Given the description of an element on the screen output the (x, y) to click on. 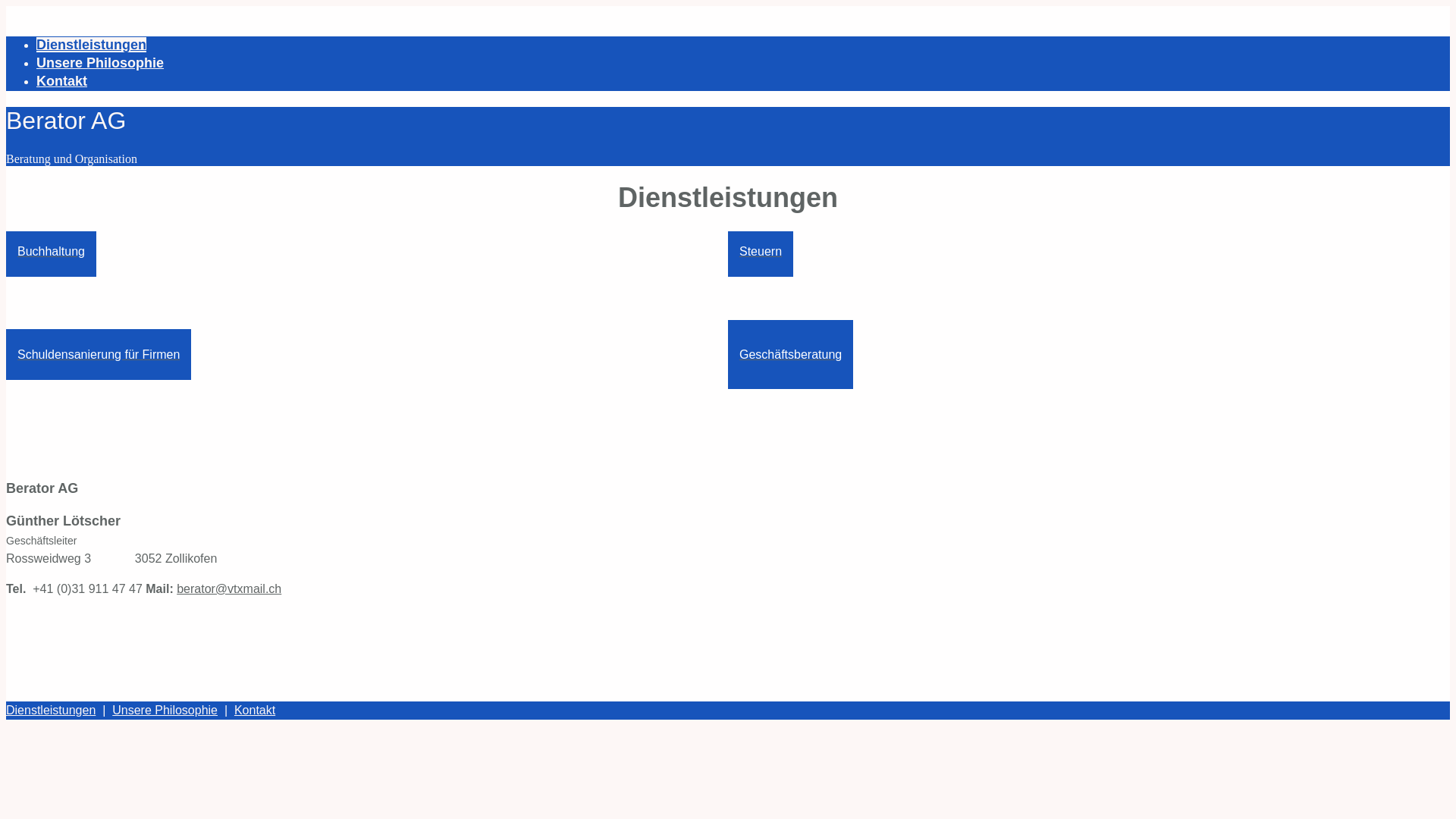
Unsere Philosophie Element type: text (164, 709)
Kontakt Element type: text (254, 709)
Kontakt Element type: text (61, 80)
berator@vtxmail.ch Element type: text (228, 588)
Buchhaltung Element type: text (51, 250)
Dienstleistungen Element type: text (50, 709)
Steuern Element type: text (760, 250)
Dienstleistungen Element type: text (91, 44)
Unsere Philosophie Element type: text (99, 62)
